Given the description of an element on the screen output the (x, y) to click on. 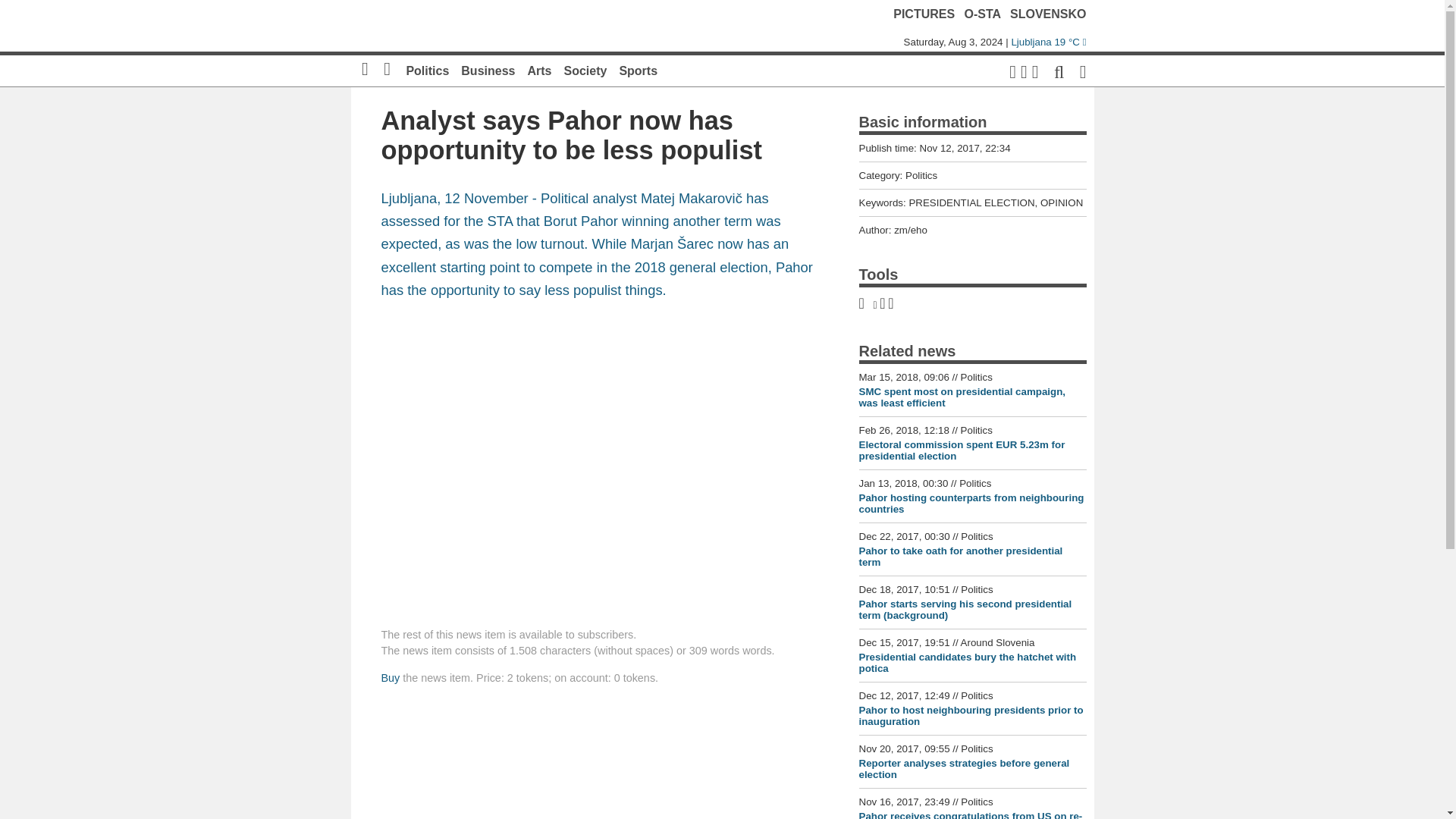
Politics (427, 70)
Reporter analyses strategies before general election (963, 768)
Arts (539, 70)
Buy (389, 677)
Pahor to take oath for another presidential term (960, 556)
Society (585, 70)
Business (488, 70)
PICTURES (924, 13)
O-STA (982, 13)
SMC spent most on presidential campaign, was least efficient (962, 396)
Pahor to host neighbouring presidents prior to inauguration (971, 715)
Presidential candidates bury the hatchet with potica (967, 662)
Pahor hosting counterparts from neighbouring countries (971, 503)
Sports (638, 70)
